Given the description of an element on the screen output the (x, y) to click on. 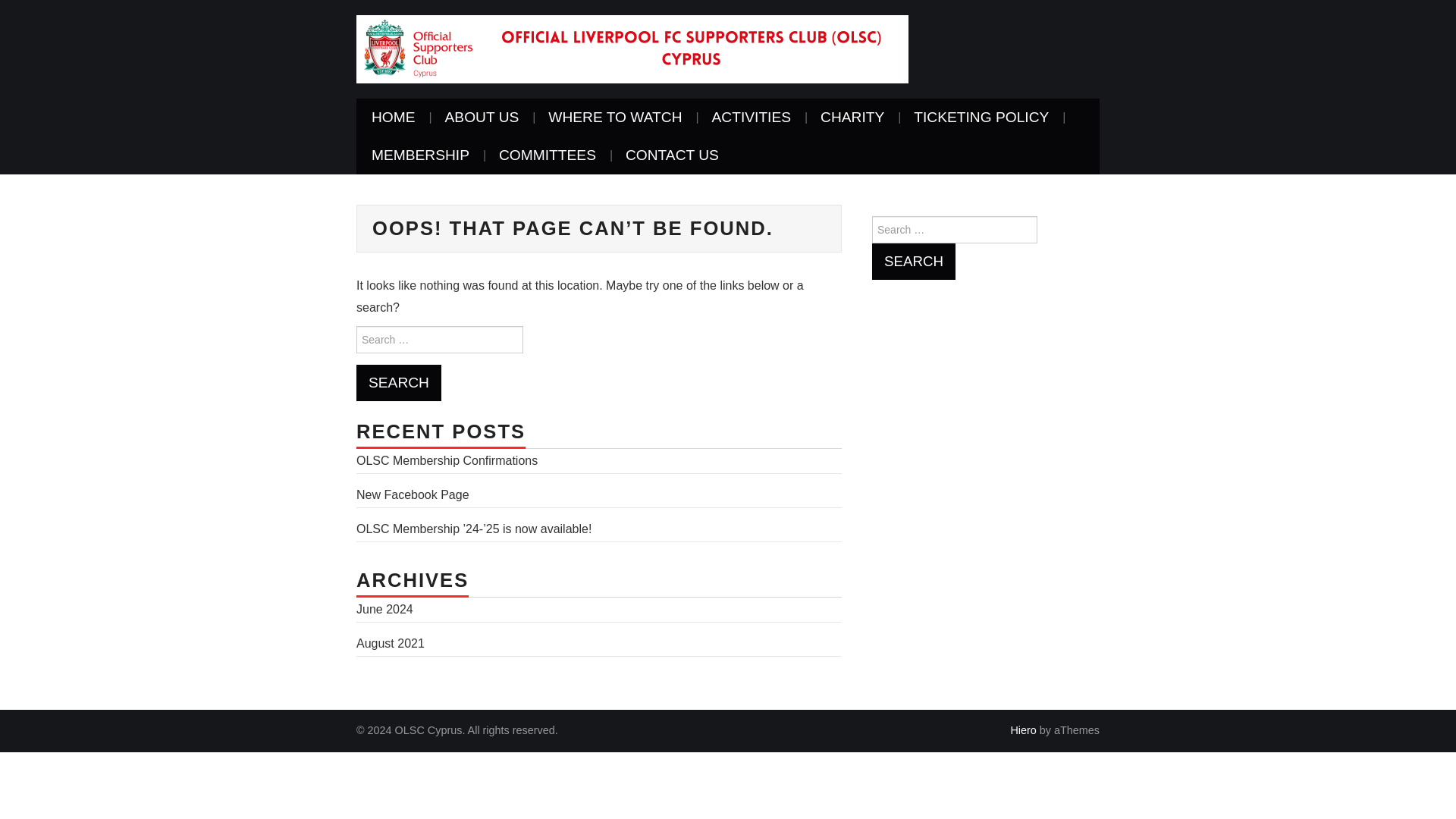
Search (398, 382)
ACTIVITIES (751, 117)
Search for: (954, 229)
CONTACT US (671, 155)
Search (398, 382)
OLSC Cyprus (632, 47)
ABOUT US (481, 117)
New Facebook Page (412, 494)
OLSC Membership Confirmations (446, 460)
June 2024 (384, 608)
TICKETING POLICY (981, 117)
MEMBERSHIP (420, 155)
WHERE TO WATCH (614, 117)
COMMITTEES (547, 155)
Search for: (439, 338)
